Given the description of an element on the screen output the (x, y) to click on. 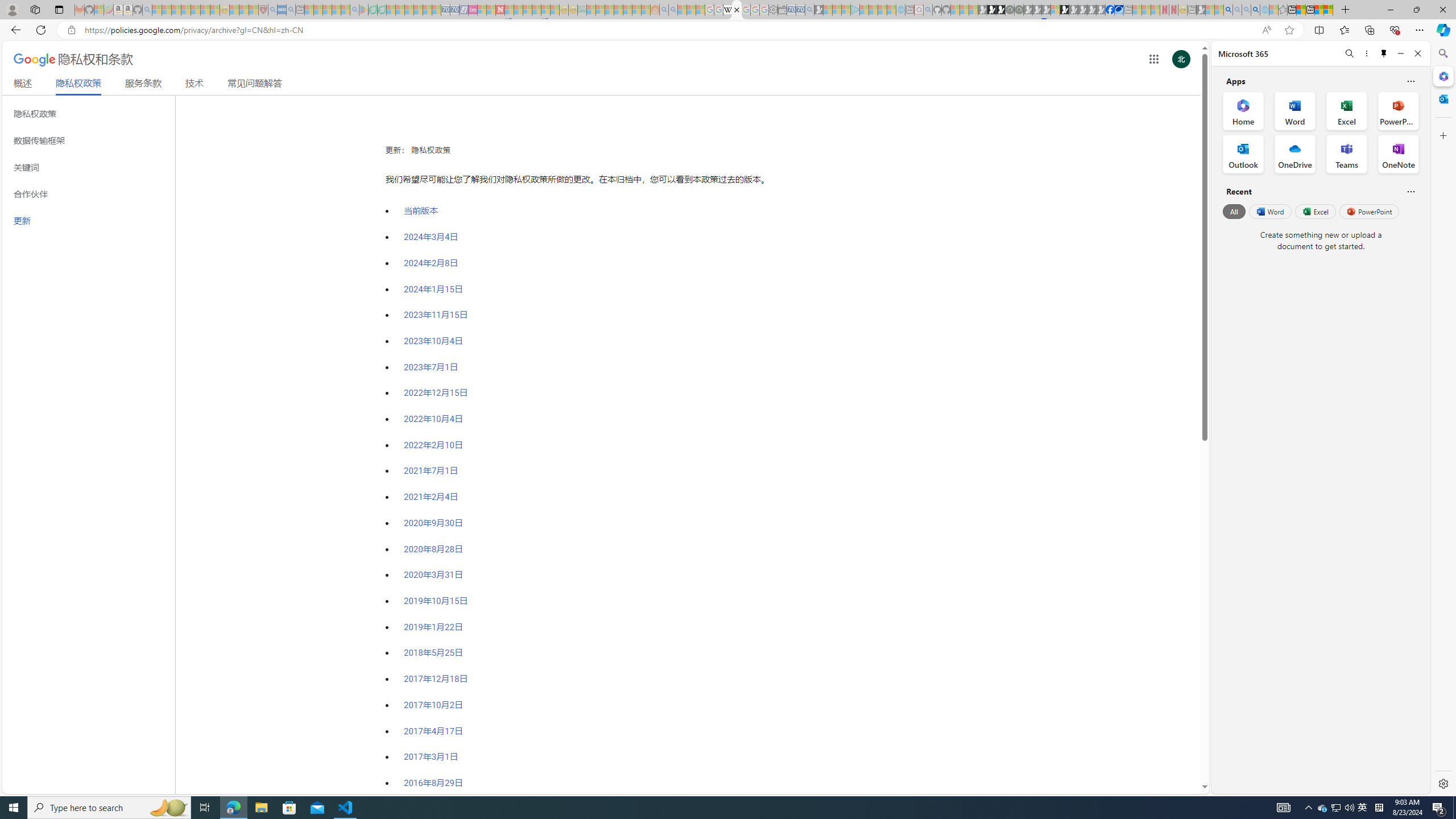
Excel (1315, 210)
PowerPoint (1369, 210)
MSN - Sleeping (1200, 9)
Class: gb_E (1153, 59)
More options (1366, 53)
